Given the description of an element on the screen output the (x, y) to click on. 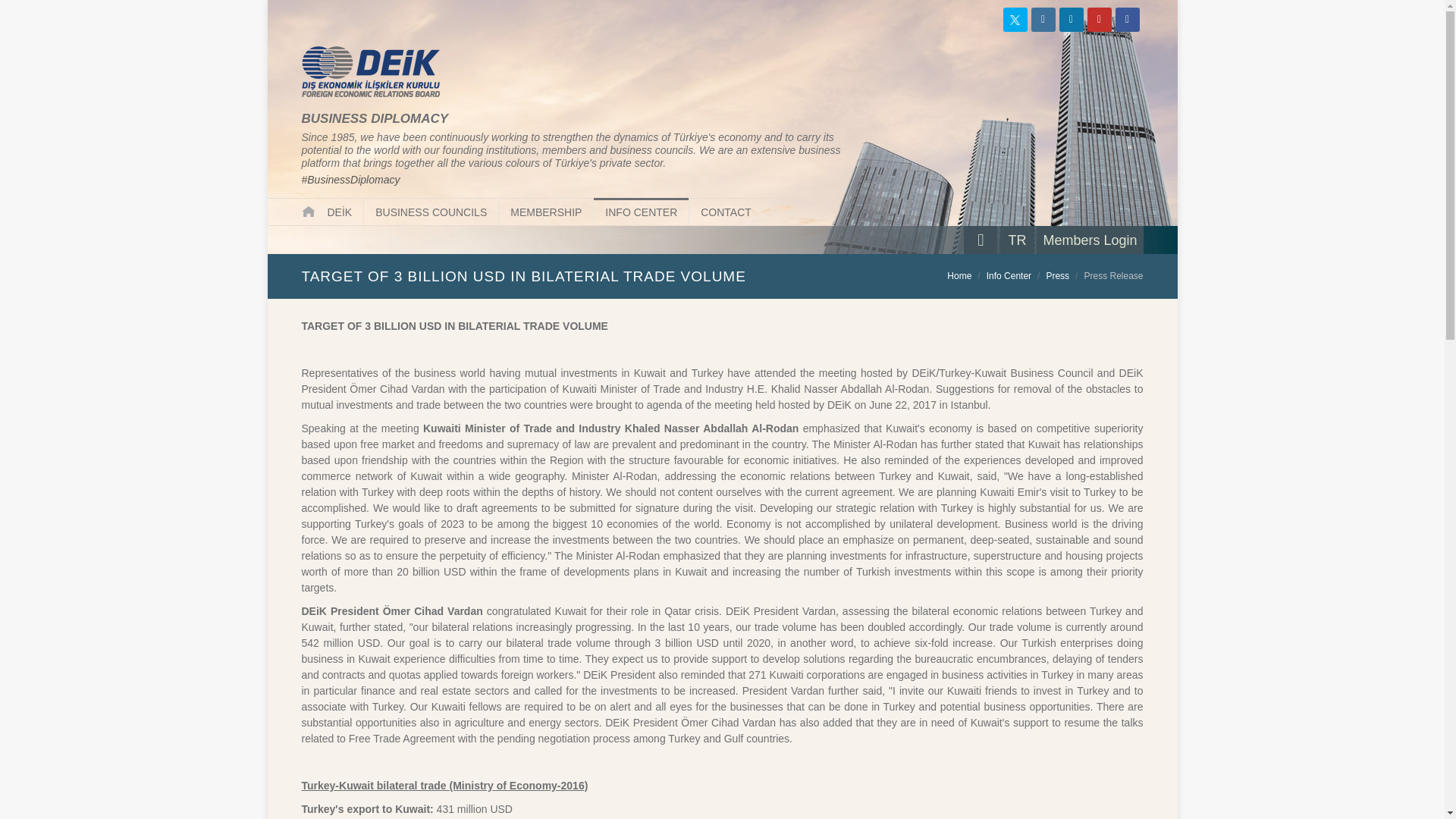
MEMBERSHIP (545, 212)
INFO CENTER (641, 212)
BUSINESS COUNCILS (430, 212)
